Given the description of an element on the screen output the (x, y) to click on. 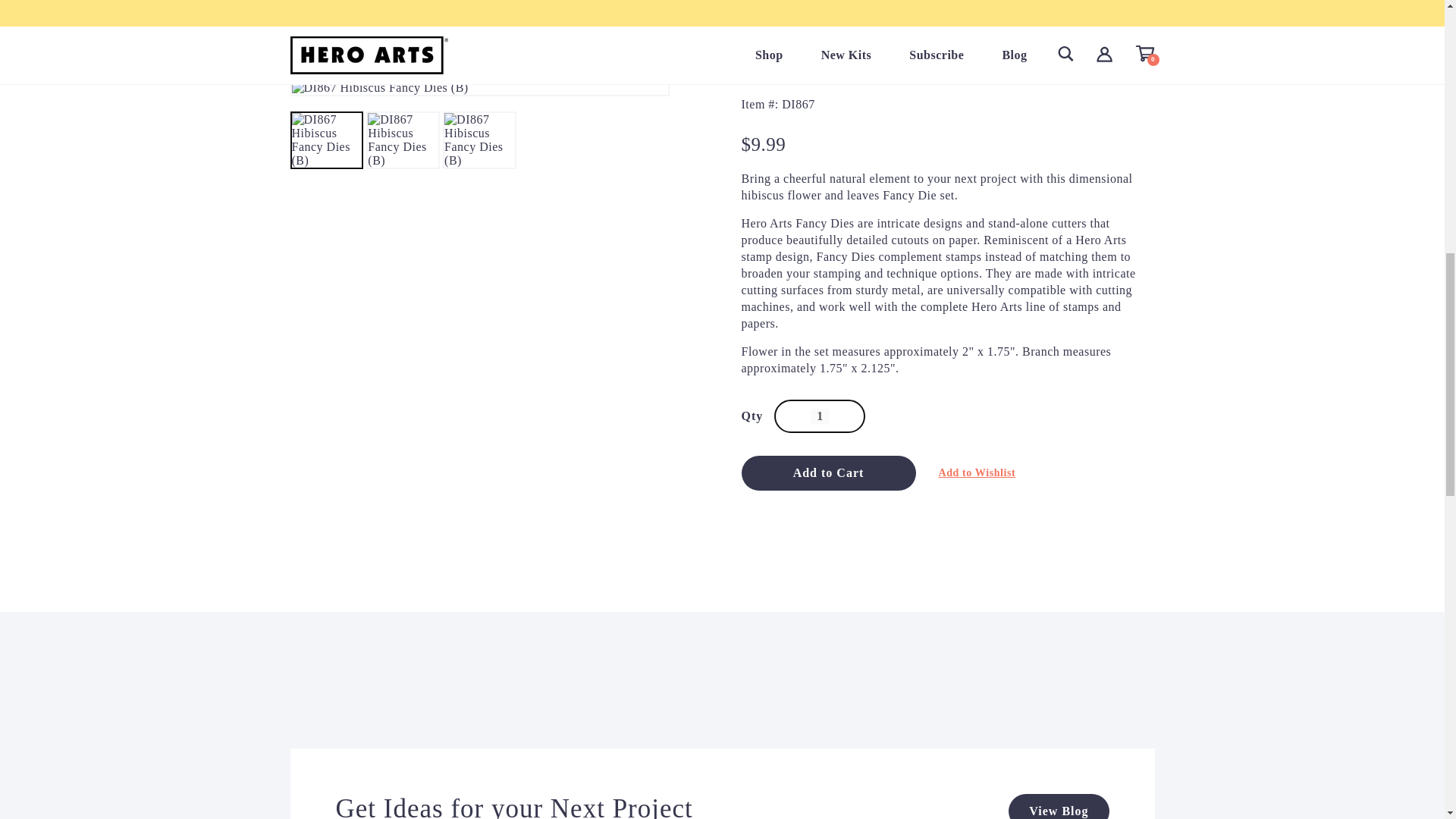
1 (819, 415)
